Given the description of an element on the screen output the (x, y) to click on. 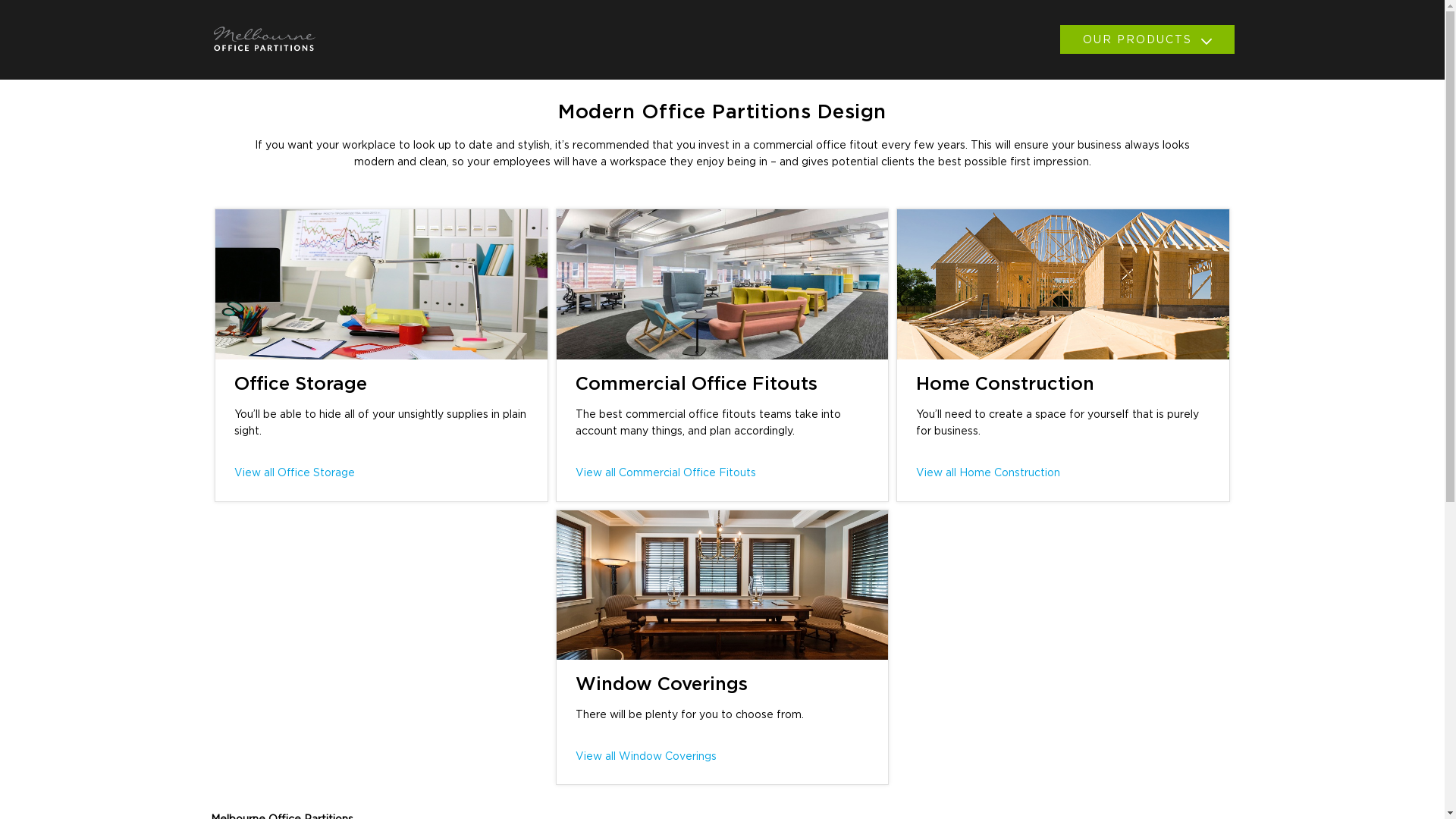
View all Window Coverings Element type: text (644, 756)
View all Home Construction Element type: text (988, 472)
View all Commercial Office Fitouts Element type: text (664, 472)
View all Office Storage Element type: text (294, 472)
Home Construction Element type: text (1005, 384)
Office Storage Element type: text (300, 384)
OUR PRODUCTS Element type: text (1147, 39)
Commercial Office Fitouts Element type: text (695, 384)
Window Coverings Element type: text (660, 684)
